Given the description of an element on the screen output the (x, y) to click on. 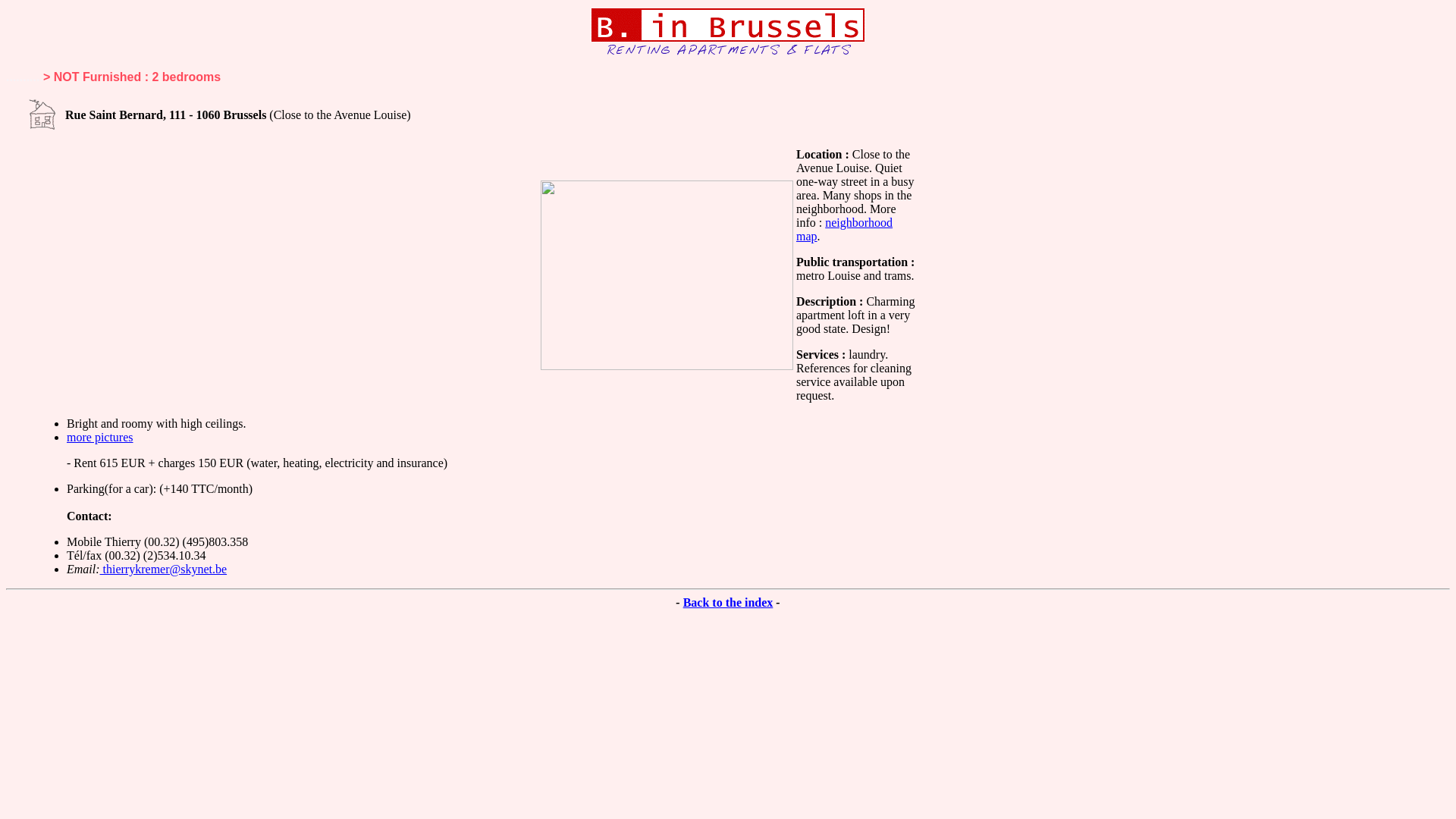
thierrykremer@skynet.be Element type: text (163, 568)
neighborhood map Element type: text (844, 229)
more pictures Element type: text (99, 436)
Back to the index Element type: text (728, 602)
